Given the description of an element on the screen output the (x, y) to click on. 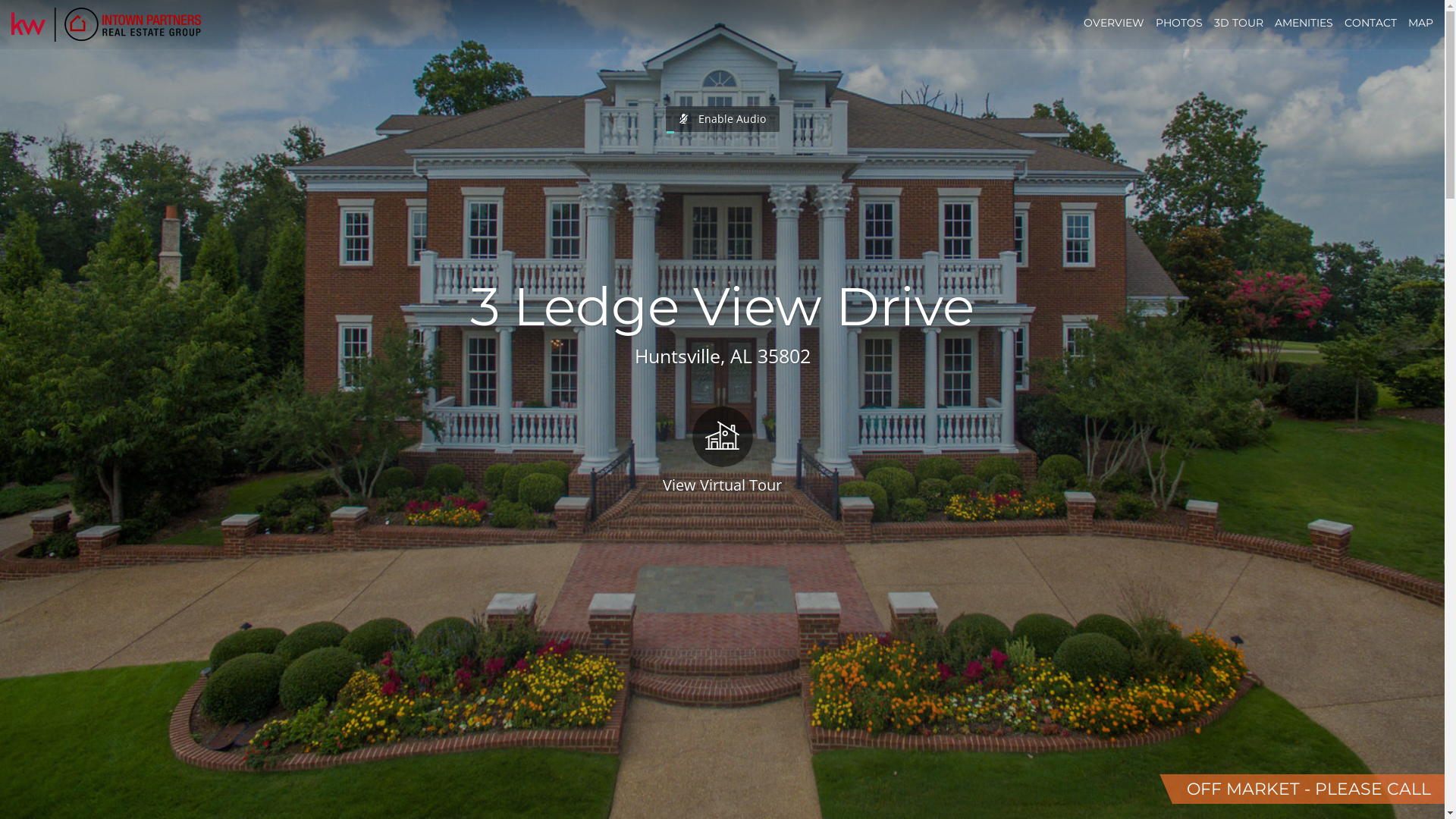
MAP Element type: text (1420, 22)
OVERVIEW Element type: text (1113, 22)
CONTACT Element type: text (1370, 22)
PHOTOS Element type: text (1178, 22)
AMENITIES Element type: text (1303, 22)
3D TOUR Element type: text (1238, 22)
View Virtual Tour Element type: text (722, 448)
